Given the description of an element on the screen output the (x, y) to click on. 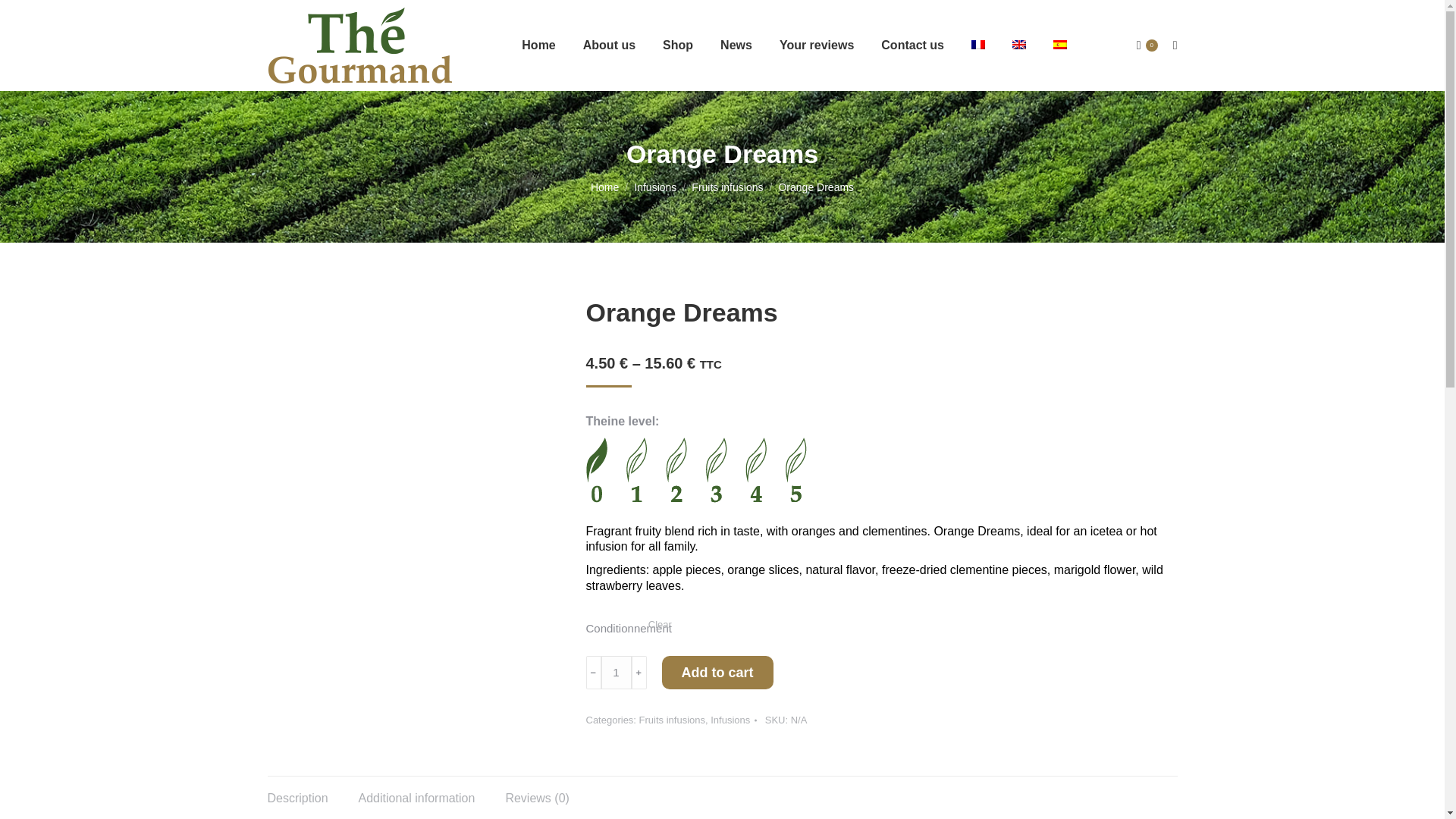
Infusions (655, 186)
 0 (1147, 45)
Your reviews (816, 44)
Fruits infusions (726, 186)
Go! (24, 16)
About us (609, 44)
1 (614, 672)
Contact us (912, 44)
Home (604, 186)
